Given the description of an element on the screen output the (x, y) to click on. 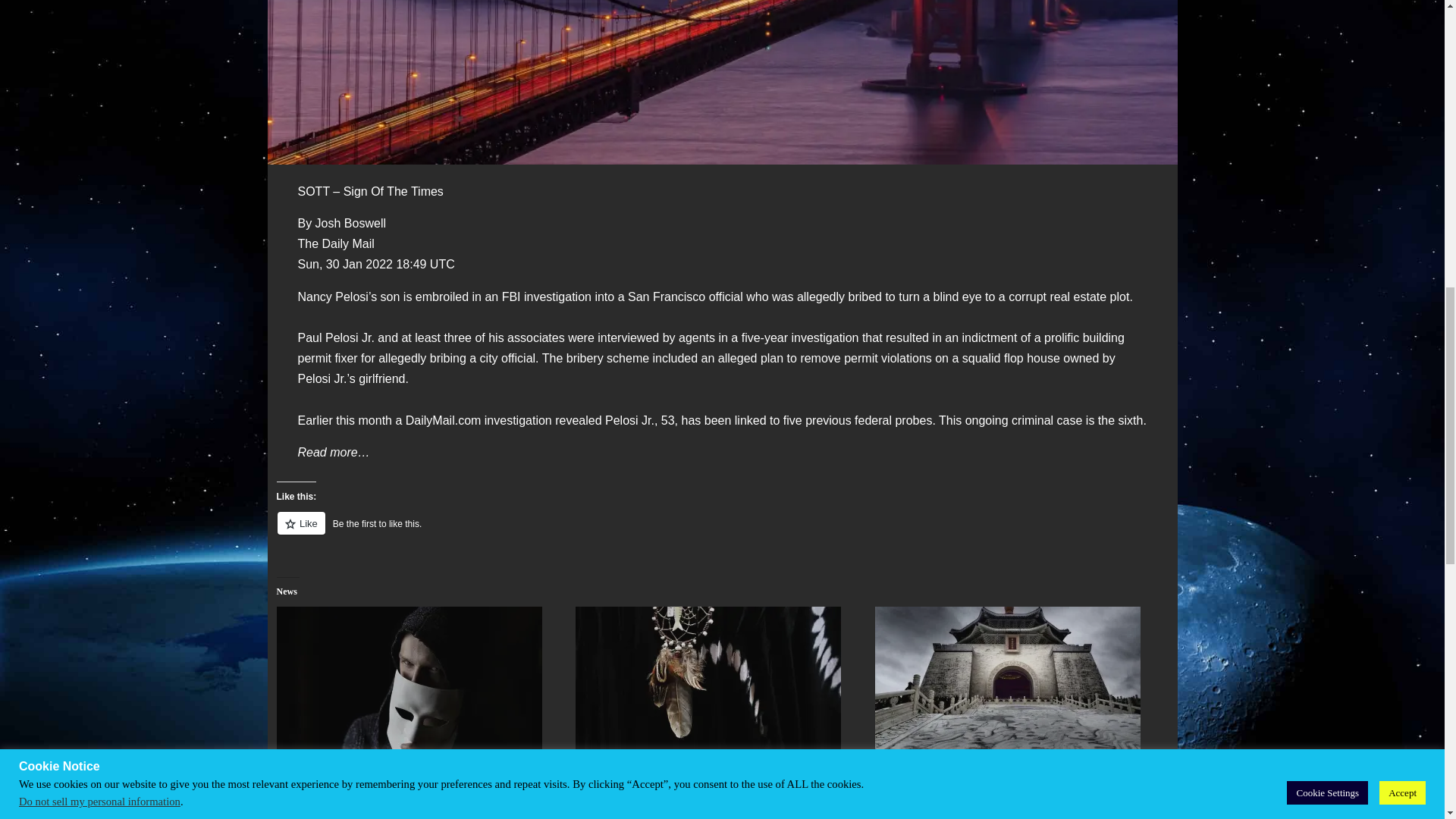
Like or Reblog (721, 531)
